Given the description of an element on the screen output the (x, y) to click on. 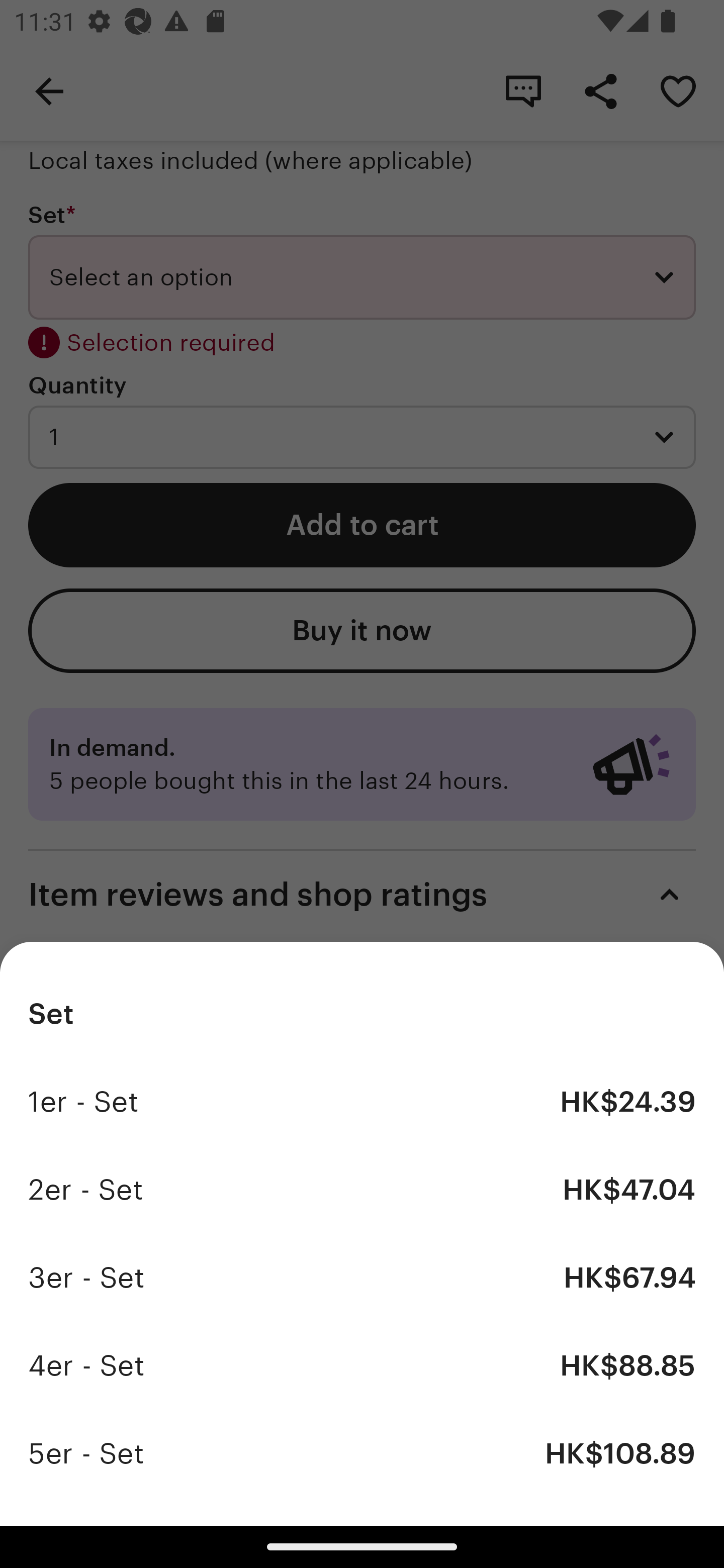
1er - Set HK$24.39 (362, 1102)
2er - Set HK$47.04 (362, 1190)
3er - Set HK$67.94 (362, 1277)
4er - Set HK$88.85 (362, 1365)
5er - Set HK$108.89 (362, 1453)
